Given the description of an element on the screen output the (x, y) to click on. 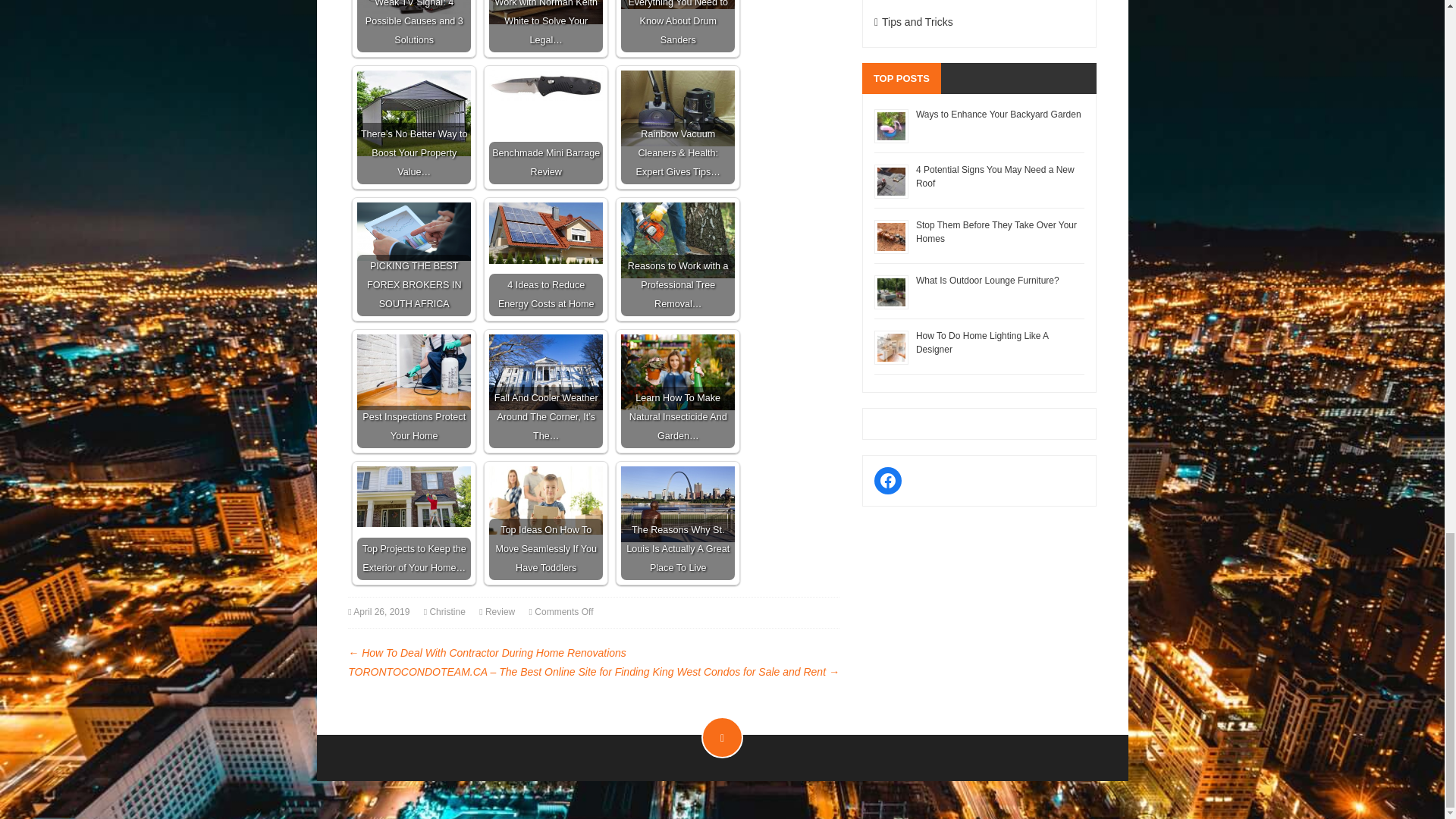
Weak TV Signal: 4 Possible Causes and 3 Solutions (413, 26)
PICKING THE BEST FOREX BROKERS IN SOUTH AFRICA (413, 231)
Benchmade Mini Barrage Review (545, 127)
Weak TV Signal: 4 Possible Causes and 3 Solutions (413, 7)
4 Ideas to Reduce Energy Costs at Home (545, 232)
Pest Inspections Protect Your Home (413, 372)
Everything You Need to Know About Drum Sanders (678, 26)
Everything You Need to Know About Drum Sanders (678, 4)
Benchmade Mini Barrage Review (545, 85)
